Given the description of an element on the screen output the (x, y) to click on. 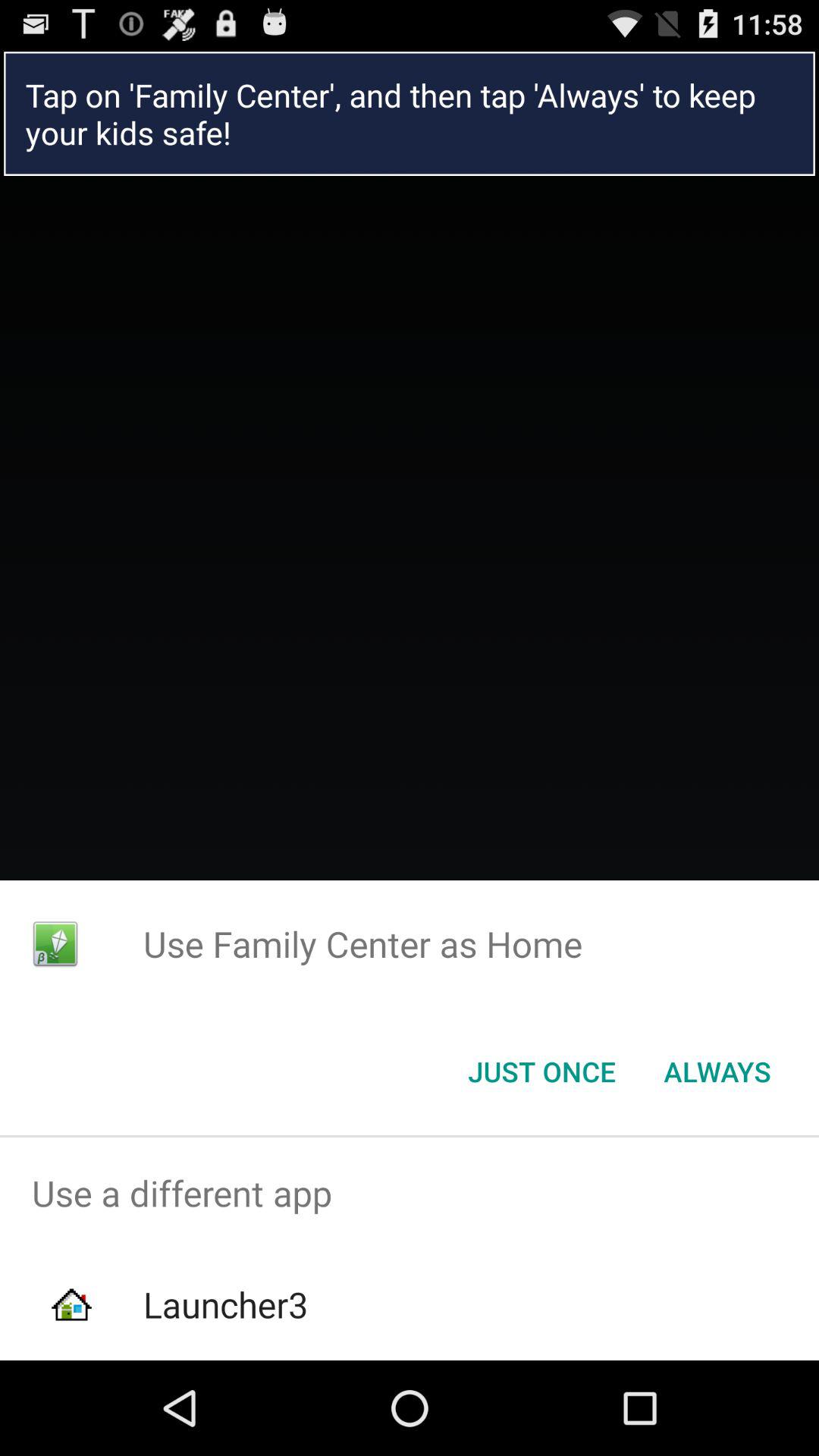
press button to the right of the just once (717, 1071)
